Given the description of an element on the screen output the (x, y) to click on. 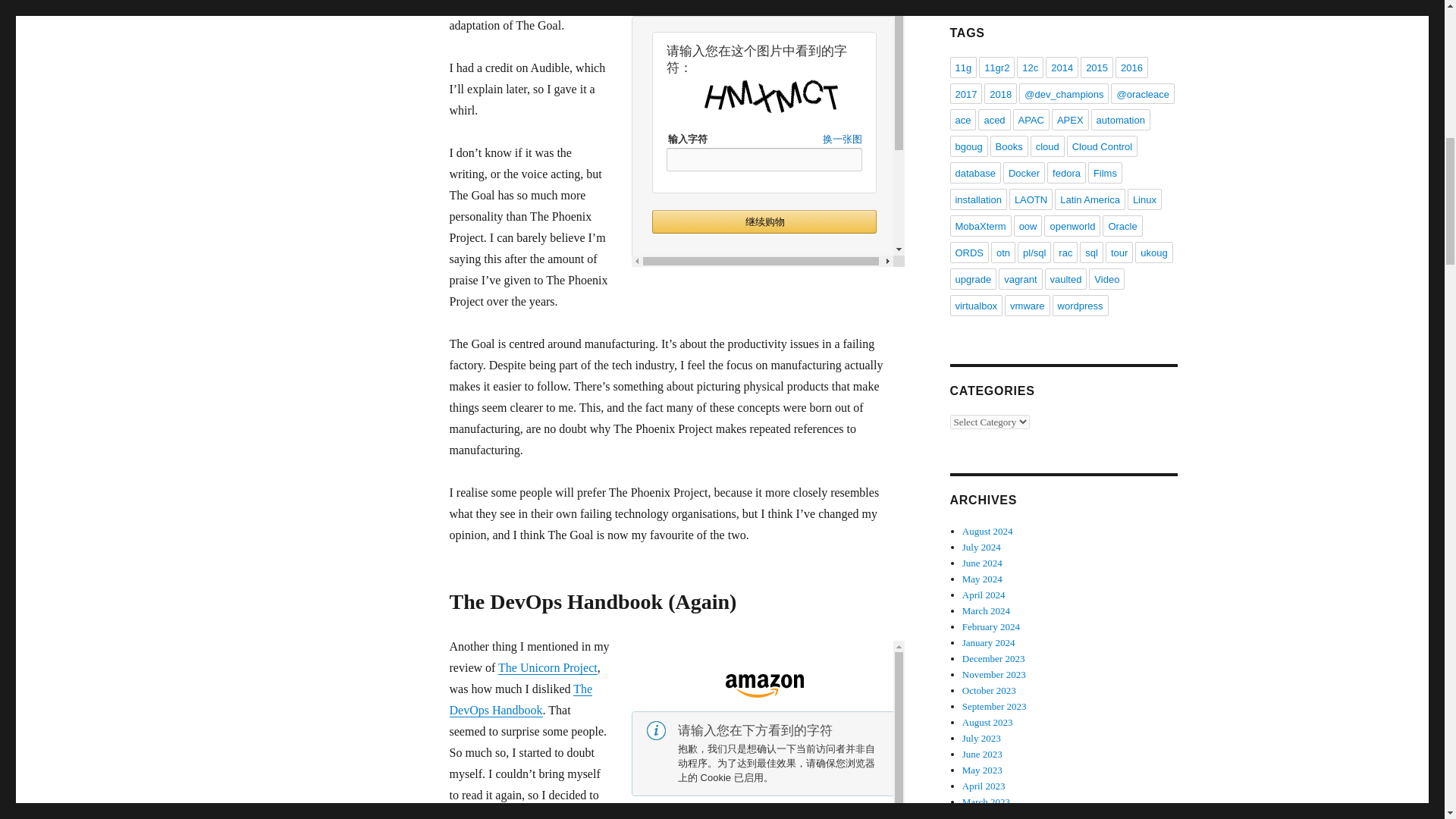
11g (962, 66)
The DevOps Handbook (520, 699)
The Goal: A Process of Ongoing Improvement (767, 133)
The Unicorn Project (546, 667)
